Given the description of an element on the screen output the (x, y) to click on. 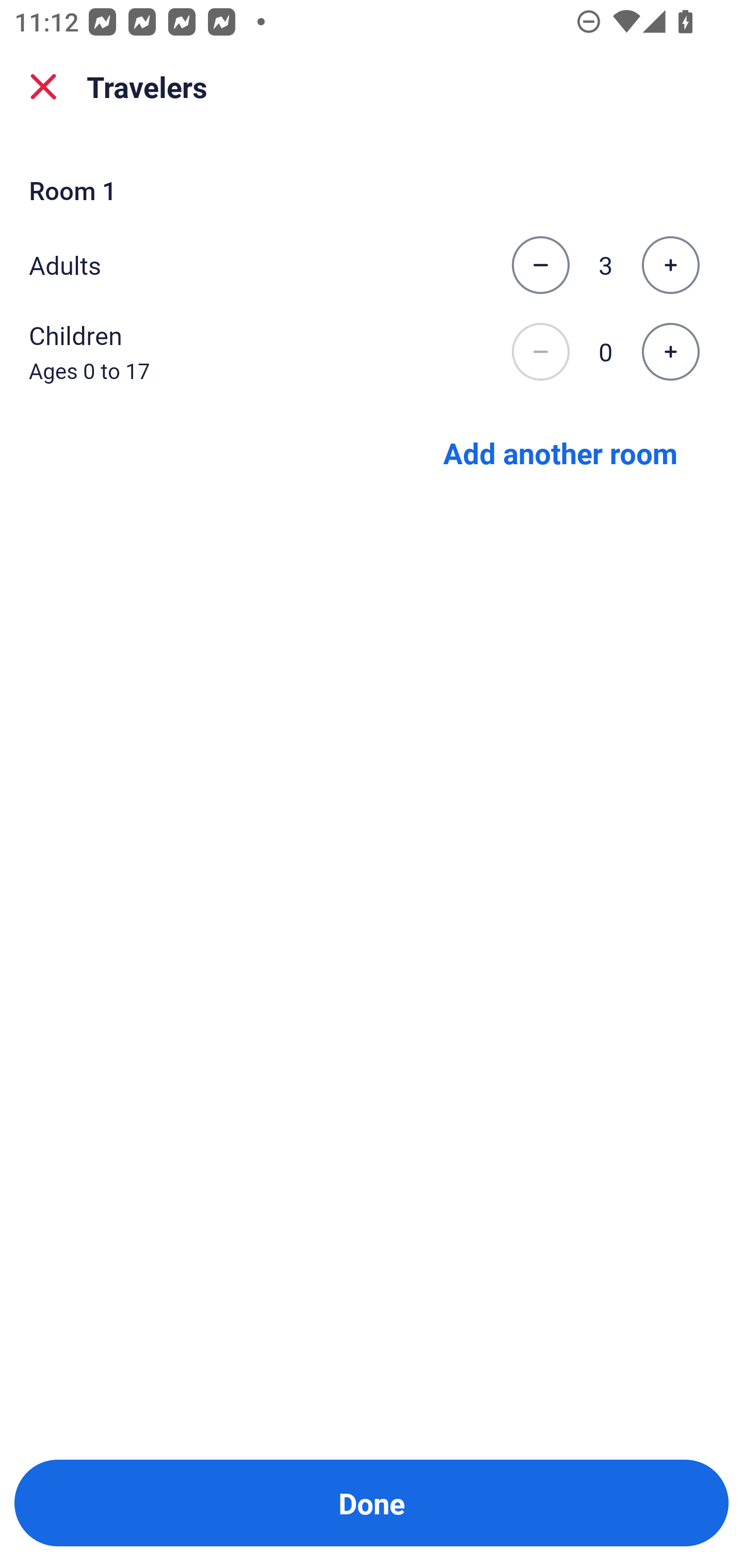
close (43, 86)
Decrease the number of adults (540, 264)
Increase the number of adults (670, 264)
Decrease the number of children (540, 351)
Increase the number of children (670, 351)
Add another room (560, 452)
Done (371, 1502)
